Given the description of an element on the screen output the (x, y) to click on. 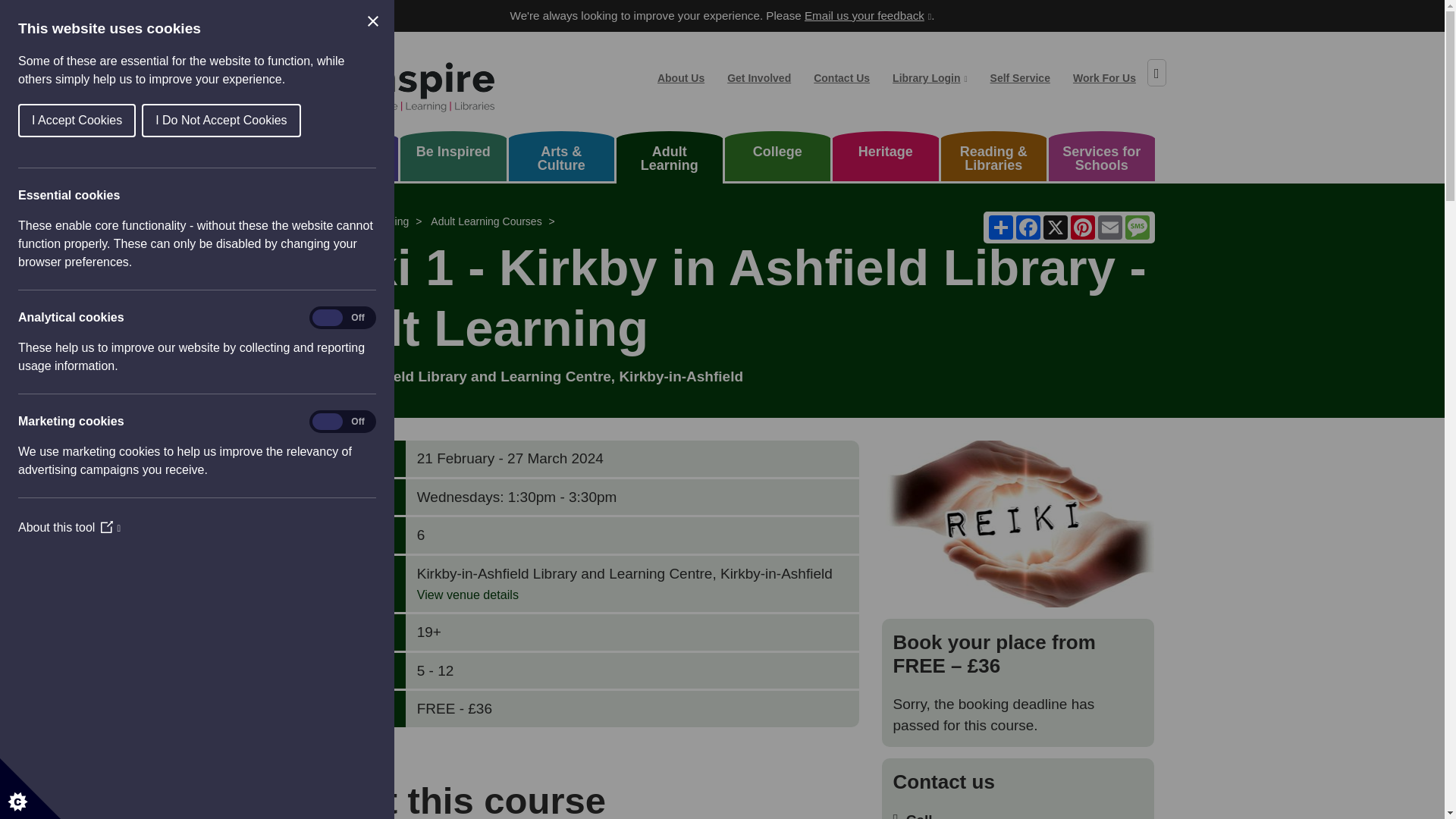
Go to home page (392, 81)
What's On (345, 160)
About Us (681, 77)
Library Login (929, 77)
Self Service (1019, 77)
Be Inspired (453, 160)
Get Involved (759, 77)
Search (1156, 72)
Contact Us (841, 77)
Work For Us (1104, 77)
Email us your feedback (868, 15)
I Do Not Accept Cookies (50, 120)
Adult Learning (668, 160)
